Given the description of an element on the screen output the (x, y) to click on. 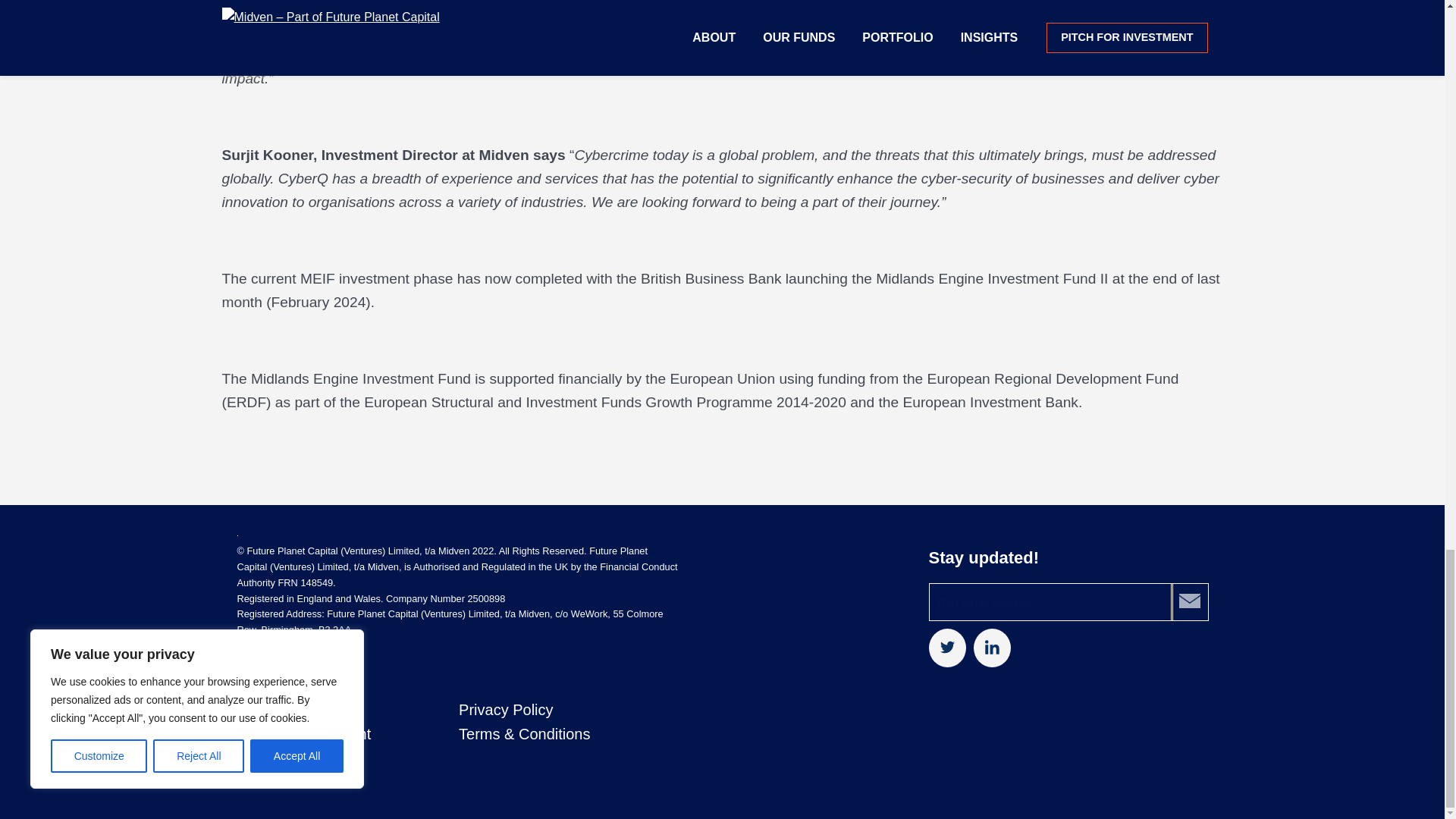
Pitch for Investment (303, 733)
020 3131 0105 (307, 663)
Privacy Policy (505, 709)
About (255, 709)
